Given the description of an element on the screen output the (x, y) to click on. 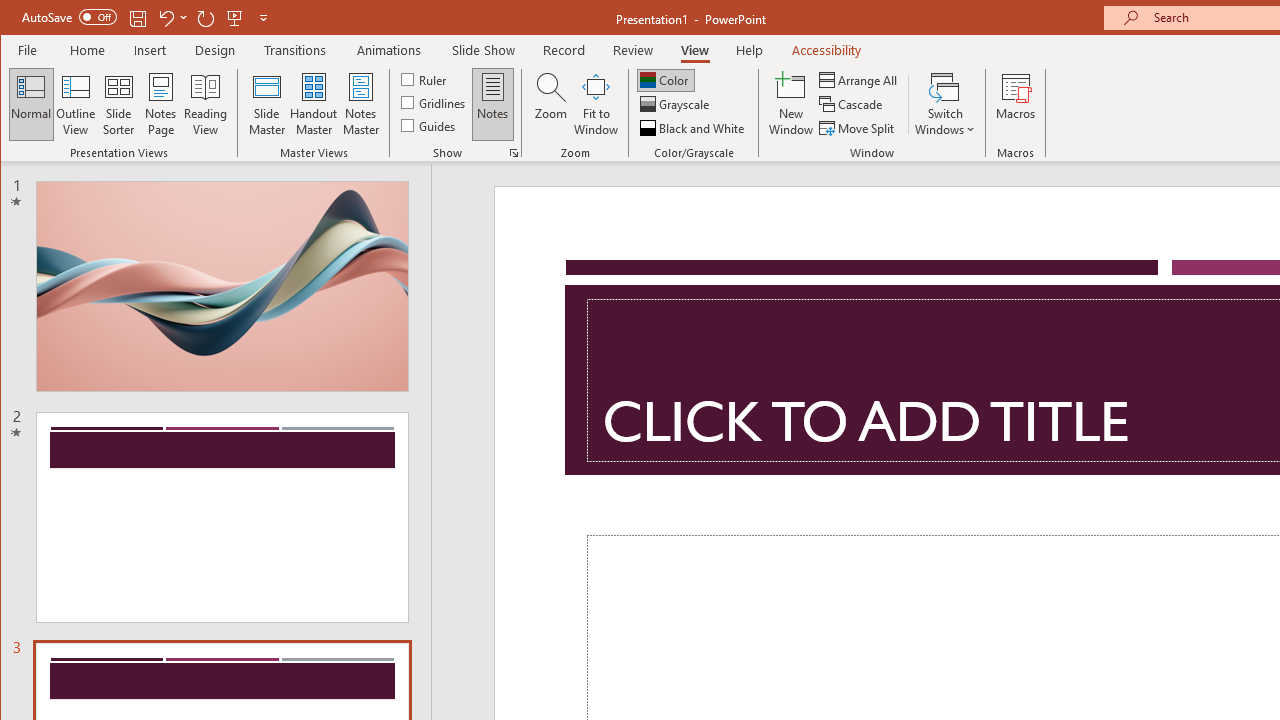
Color (666, 80)
New Window (791, 104)
Slide Master (266, 104)
Outline View (75, 104)
Notes (493, 104)
Gridlines (435, 101)
Notes Page (160, 104)
